Given the description of an element on the screen output the (x, y) to click on. 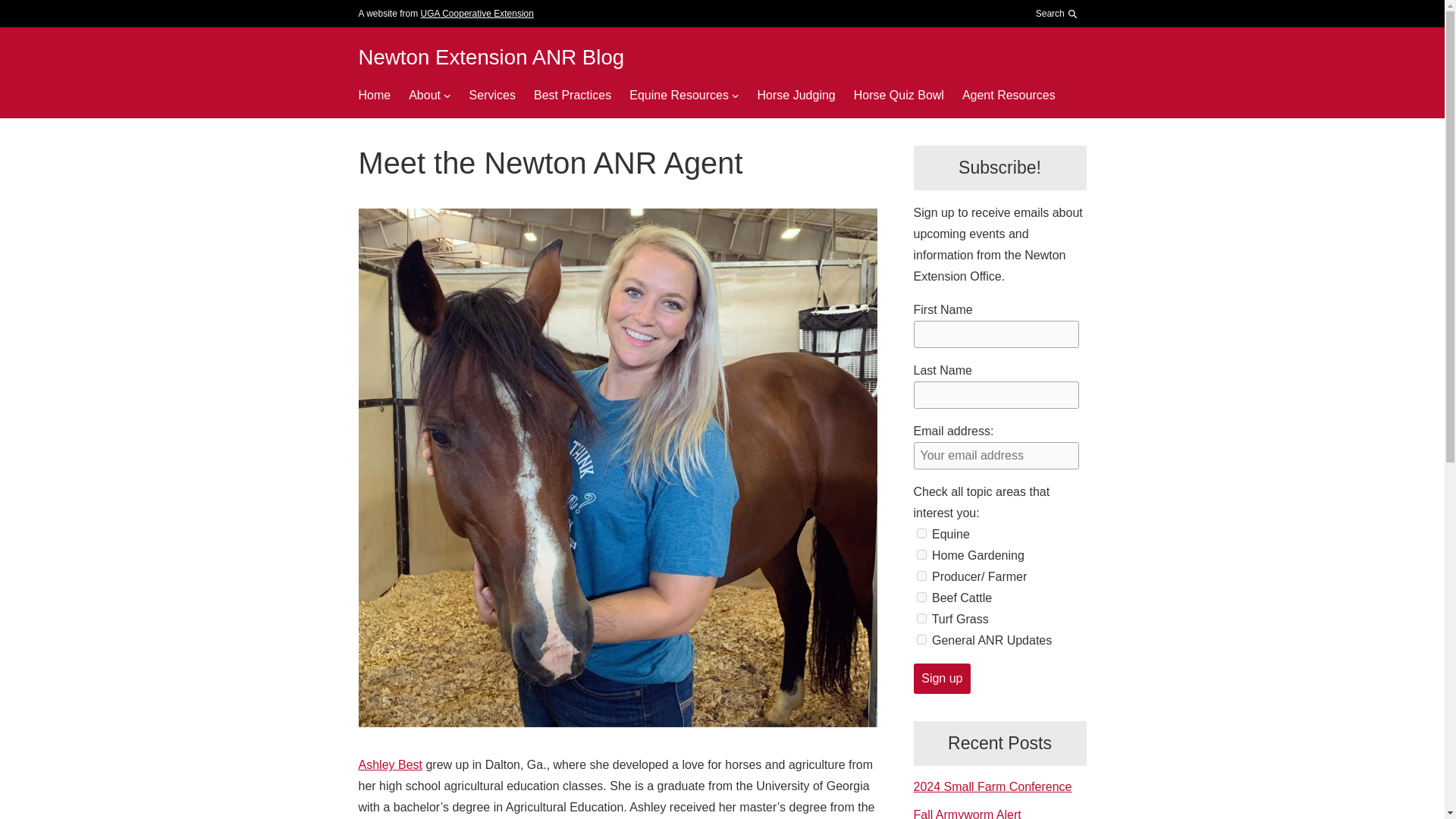
Sign up (941, 677)
Search (1053, 51)
Agent Resources (1008, 95)
Newton Extension ANR Blog (491, 56)
Fall Armyworm Alert (966, 813)
Equine Resources (678, 95)
Best Practices (572, 95)
ec0fc41540 (920, 533)
Horse Quiz Bowl (898, 95)
e371f071c6 (920, 596)
